Given the description of an element on the screen output the (x, y) to click on. 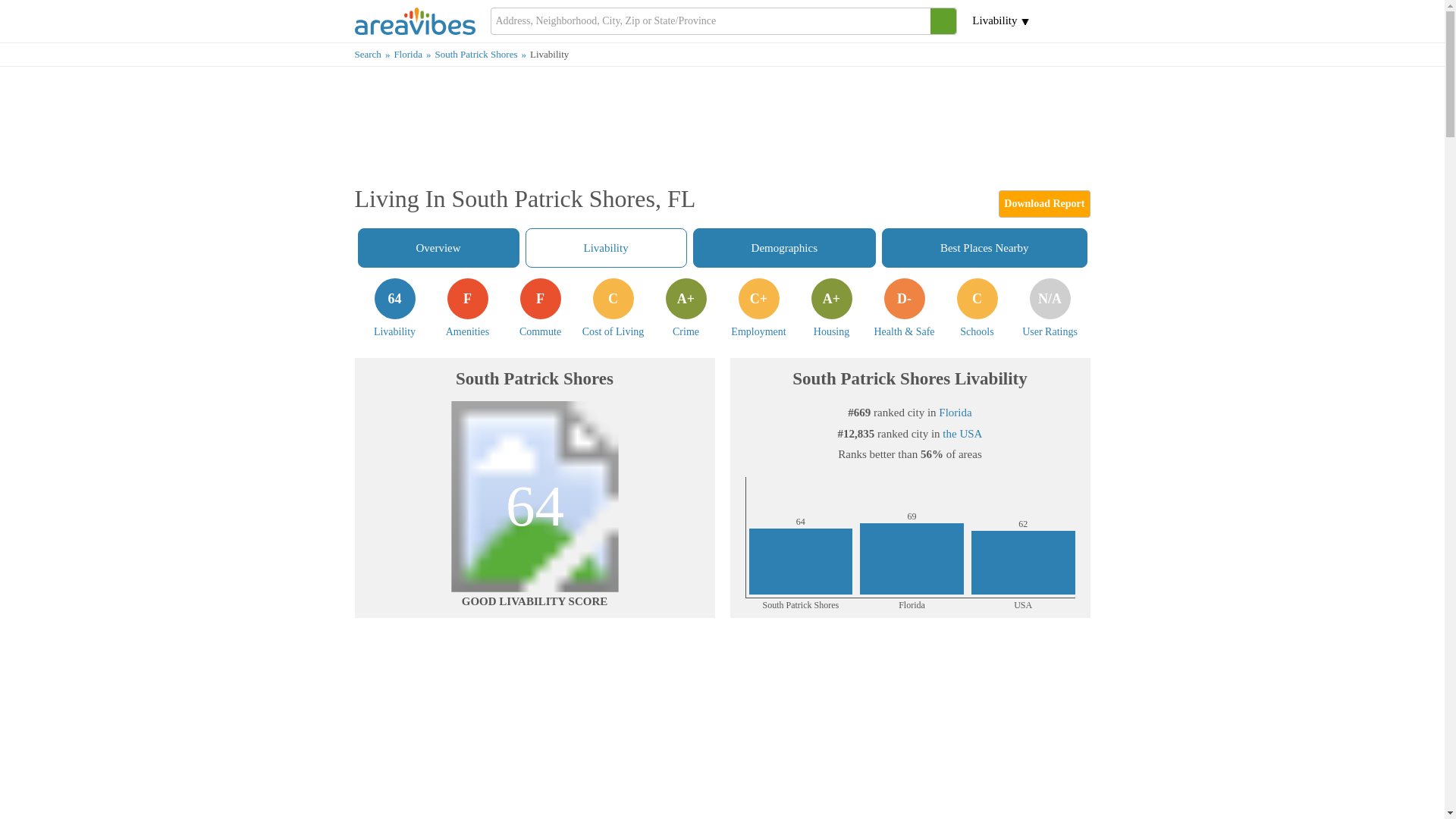
Overview (438, 247)
Demographics (784, 247)
Search (374, 53)
South Patrick Shores (481, 53)
Livability (394, 308)
Florida (606, 247)
Best Places Nearby (413, 53)
Download Report (984, 247)
64 (539, 308)
